Given the description of an element on the screen output the (x, y) to click on. 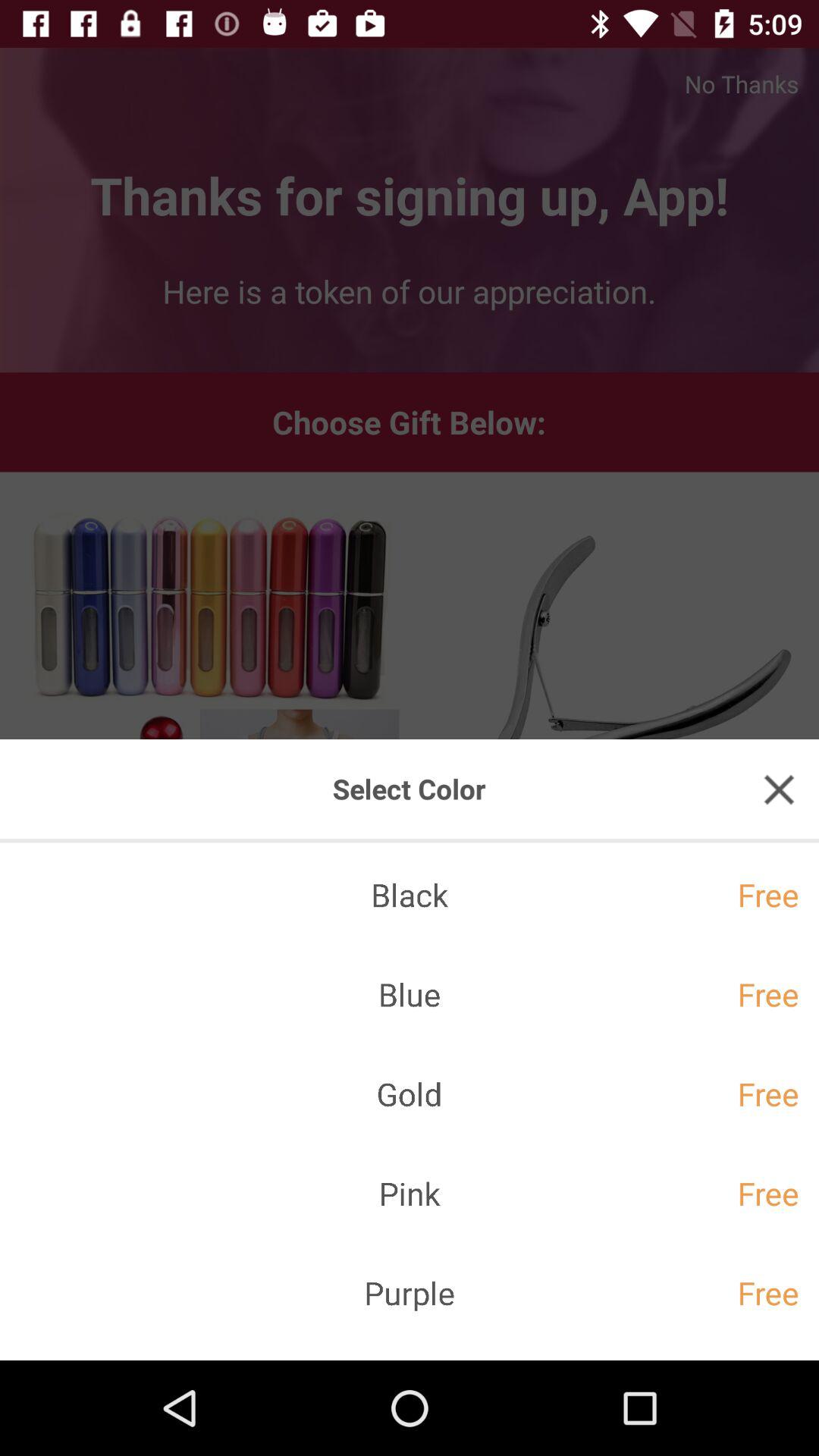
click close button (779, 788)
